Given the description of an element on the screen output the (x, y) to click on. 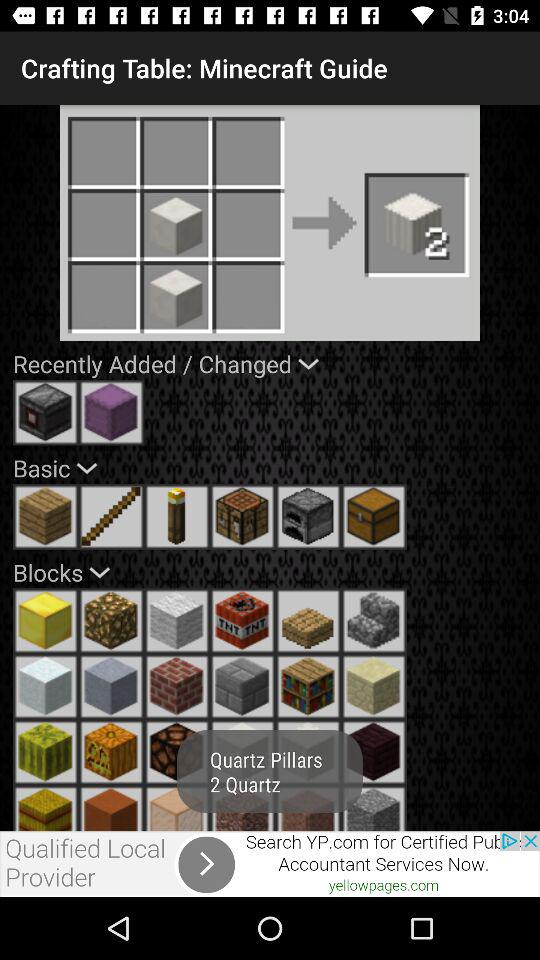
pick the option (111, 516)
